Given the description of an element on the screen output the (x, y) to click on. 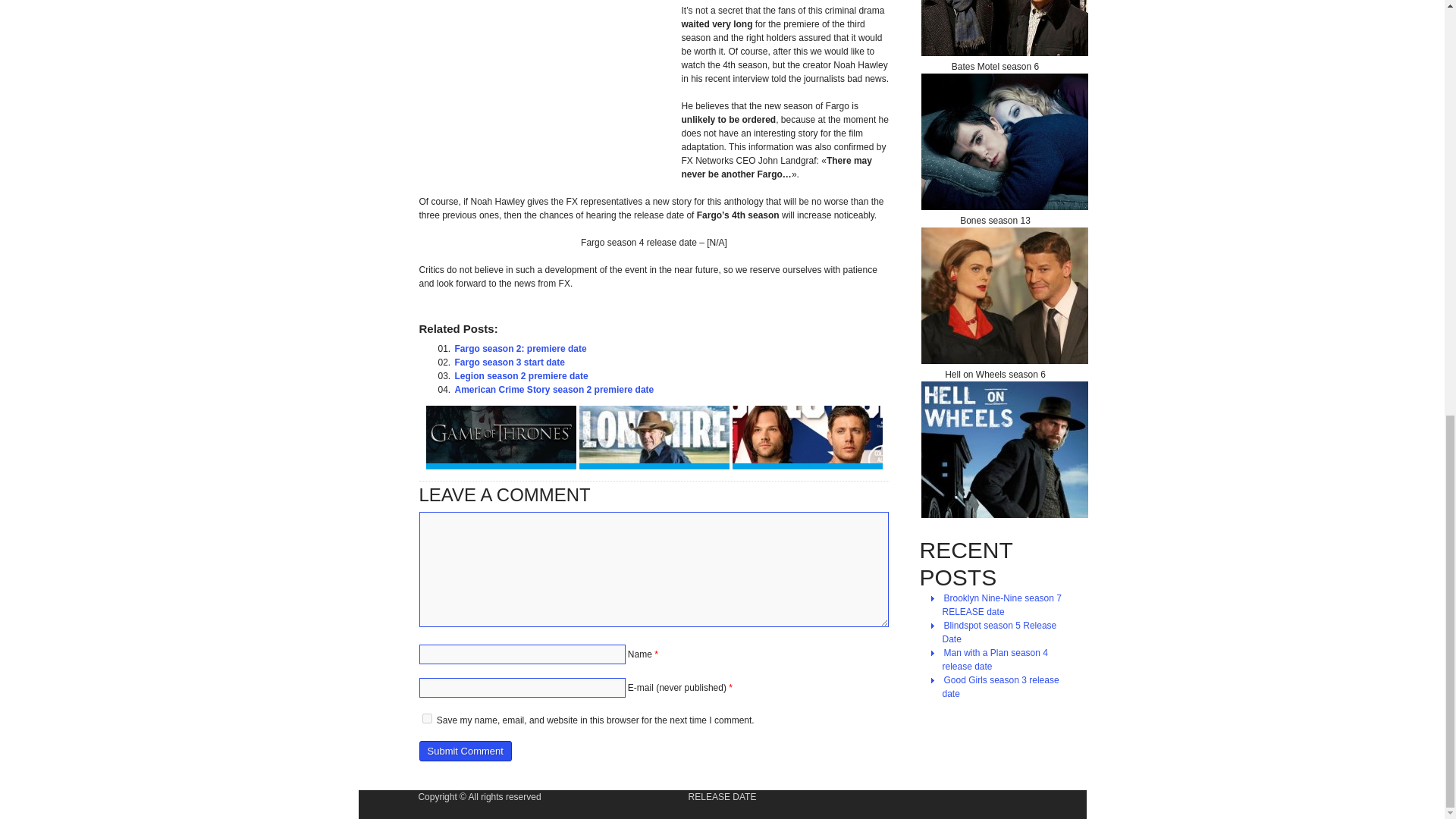
Submit Comment (465, 751)
yes (426, 718)
Man with a Plan season 4 release date (994, 659)
Advertisement (545, 84)
Blindspot season 5 Release Date (999, 632)
Brooklyn Nine-Nine season 7 RELEASE date (1001, 605)
American Crime Story season 2 premiere date (554, 389)
Fargo season 2: premiere date (520, 348)
Fargo season 3 start date (509, 362)
Legion season 2 premiere date (520, 376)
American Crime Story season 2 premiere date (554, 389)
Good Girls season 3 release date (1000, 687)
Fargo season 3 start date (509, 362)
Submit Comment (465, 751)
Legion season 2 premiere date (520, 376)
